Given the description of an element on the screen output the (x, y) to click on. 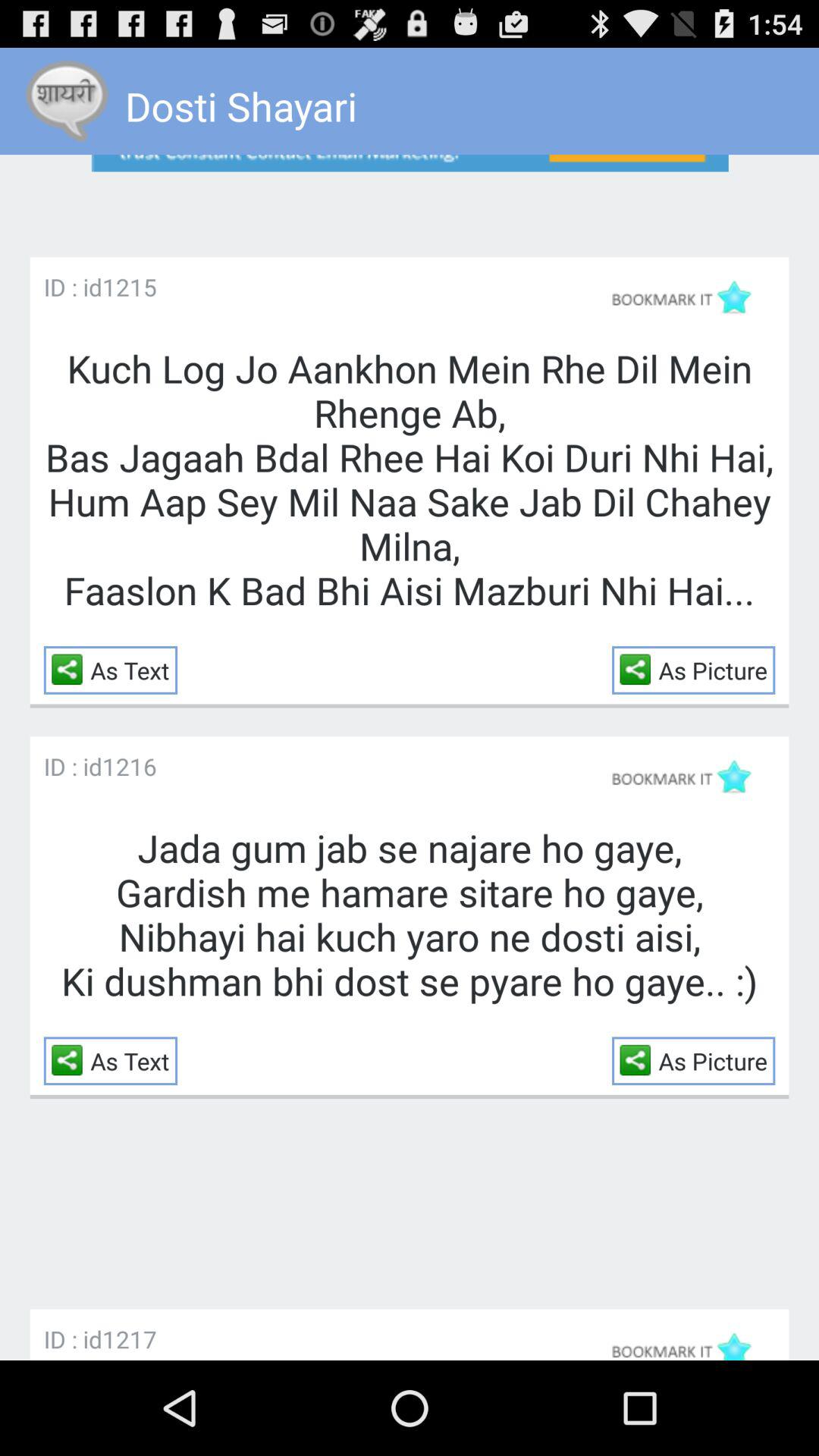
open the icon below kuch log jo (638, 669)
